Given the description of an element on the screen output the (x, y) to click on. 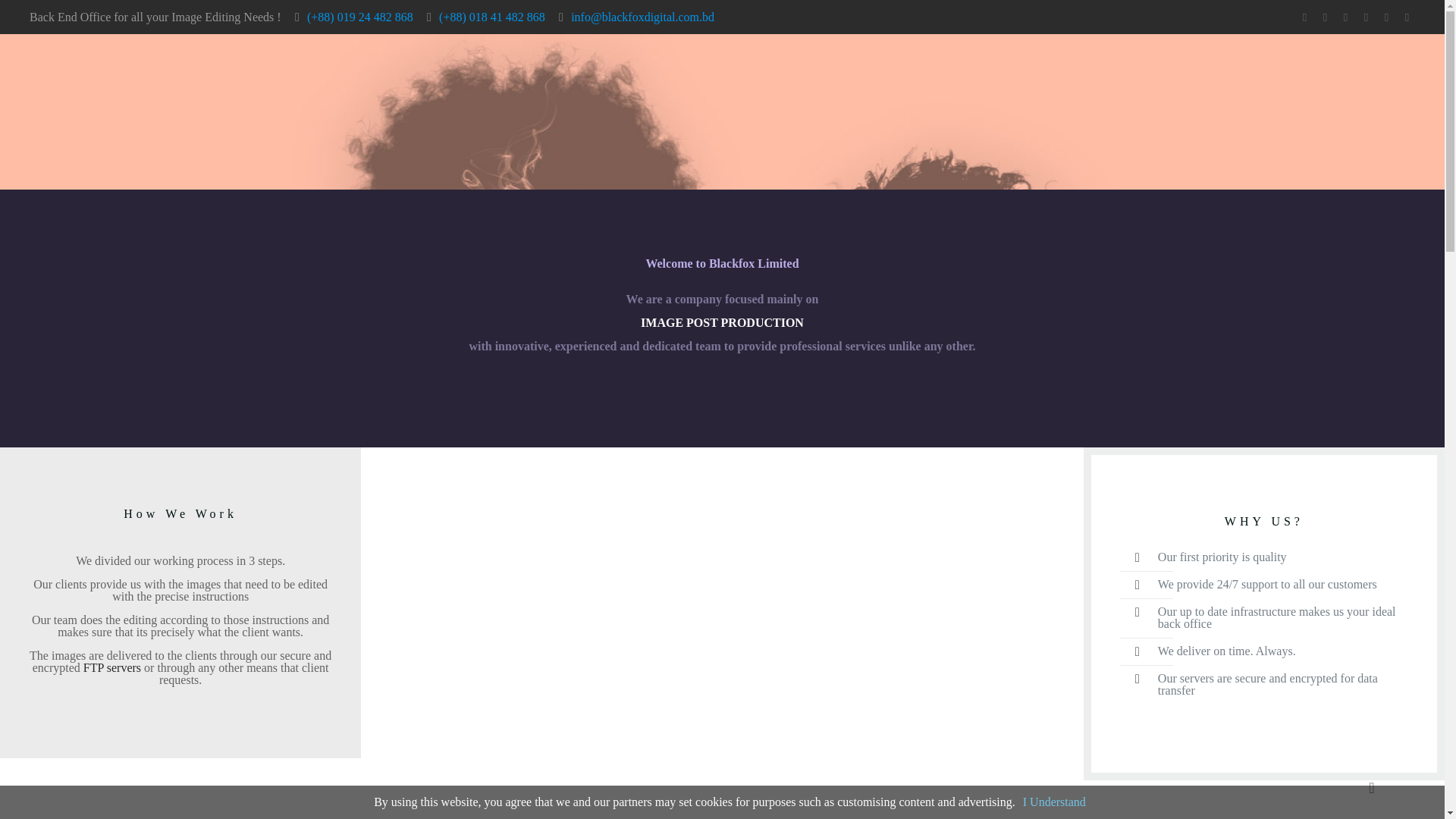
Skype (1305, 17)
WhatsApp (1325, 17)
FTP servers (111, 667)
Instagram (1407, 17)
Facebook (1346, 17)
LinkedIn (1386, 17)
YouTube (1366, 17)
